Given the description of an element on the screen output the (x, y) to click on. 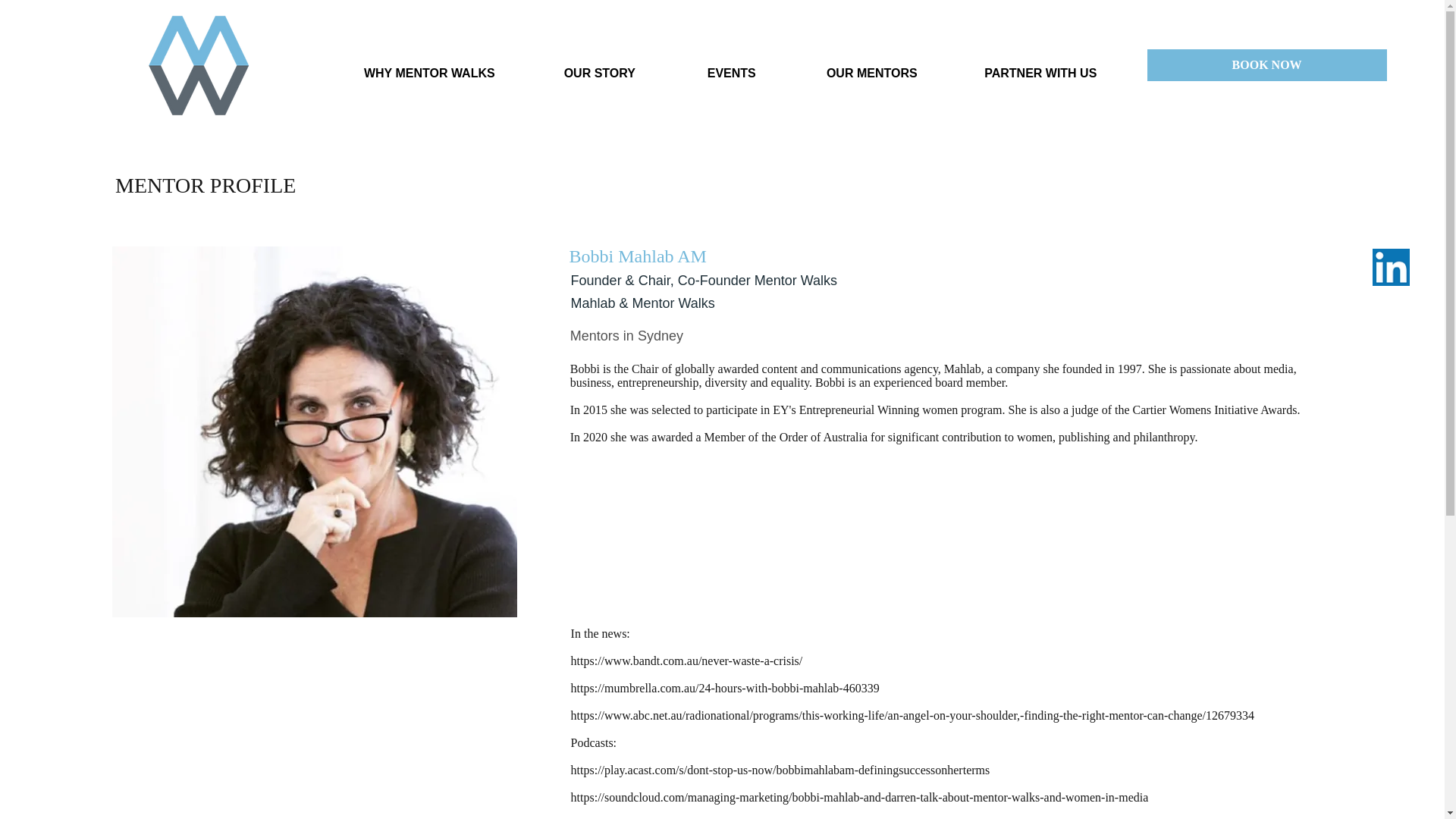
OUR MENTORS (872, 66)
OUR STORY (599, 66)
PARTNER WITH US (1040, 66)
WHY MENTOR WALKS (428, 66)
BOOK NOW (1267, 65)
EVENTS (731, 66)
